Given the description of an element on the screen output the (x, y) to click on. 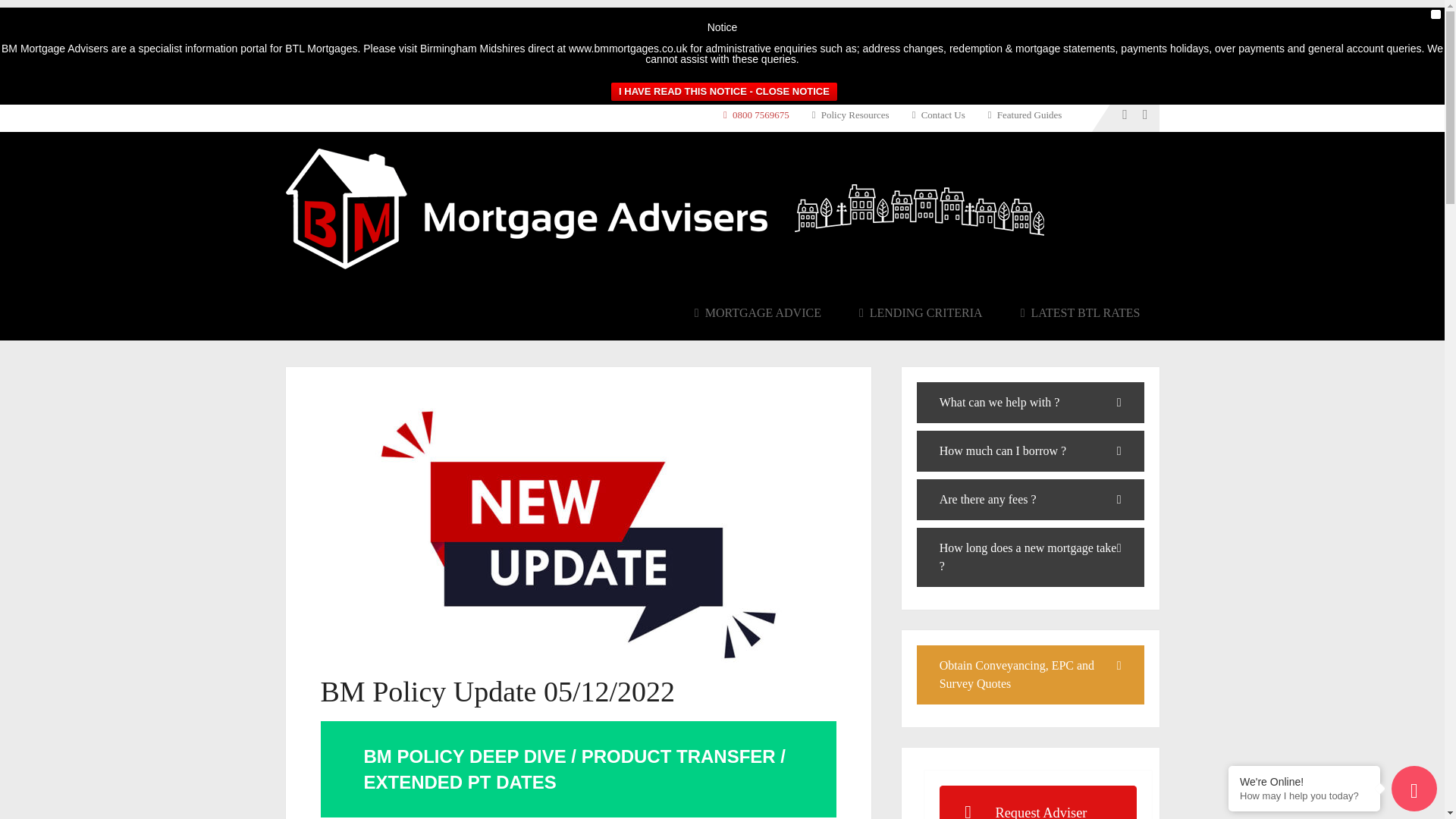
0800 7569675 (761, 114)
LENDING CRITERIA (920, 312)
Contact Us (938, 114)
MORTGAGE ADVICE (757, 312)
Featured Guides (1025, 114)
LATEST BTL RATES (1079, 312)
Telephone (761, 114)
Policy Resources (850, 114)
I HAVE READ THIS NOTICE - CLOSE NOTICE (724, 91)
Request Adviser Callback (1038, 802)
